Given the description of an element on the screen output the (x, y) to click on. 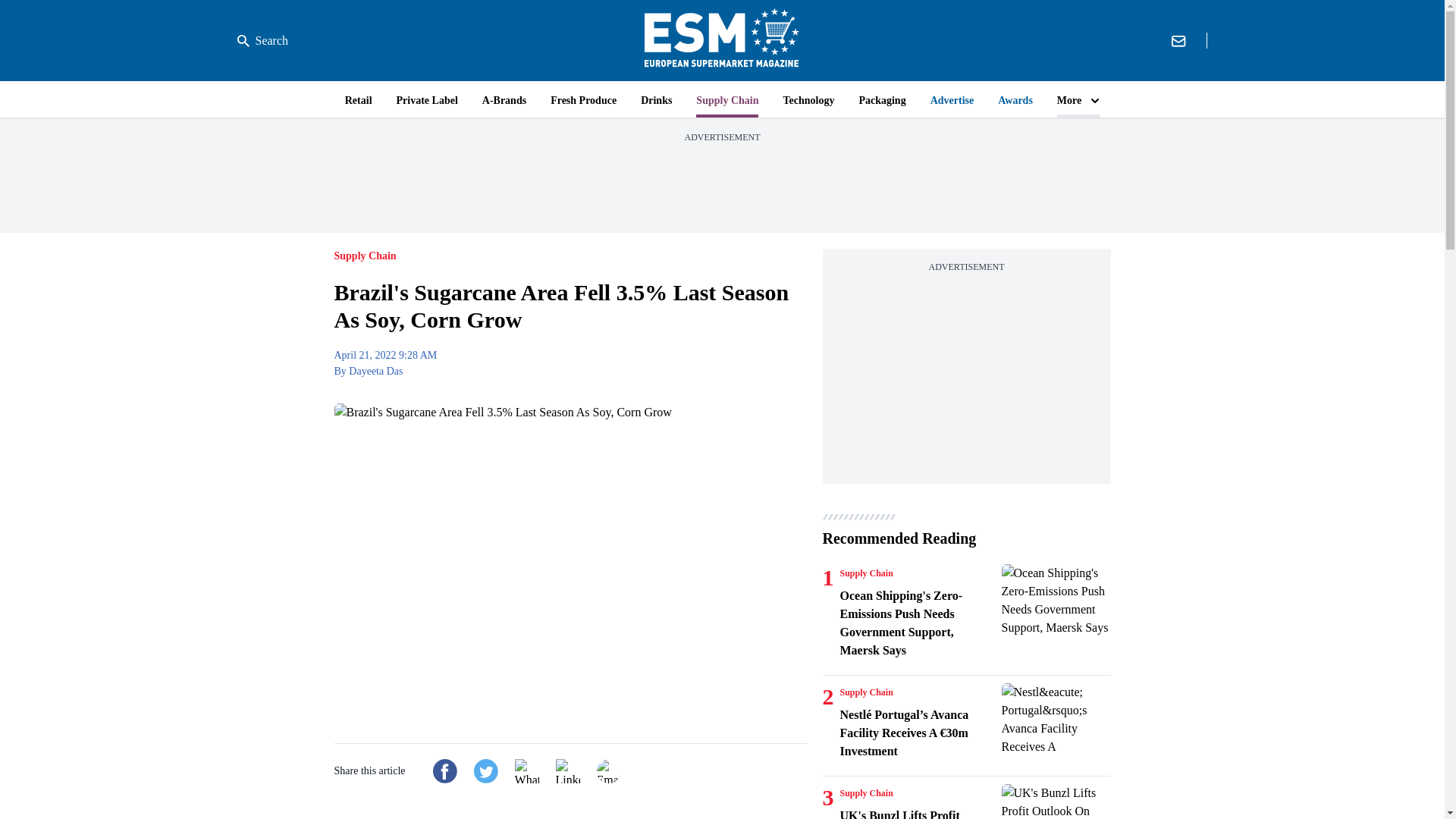
ESM (722, 40)
Search (261, 40)
Supply Chain (866, 793)
Supply Chain (866, 573)
Supply Chain (866, 692)
